Given the description of an element on the screen output the (x, y) to click on. 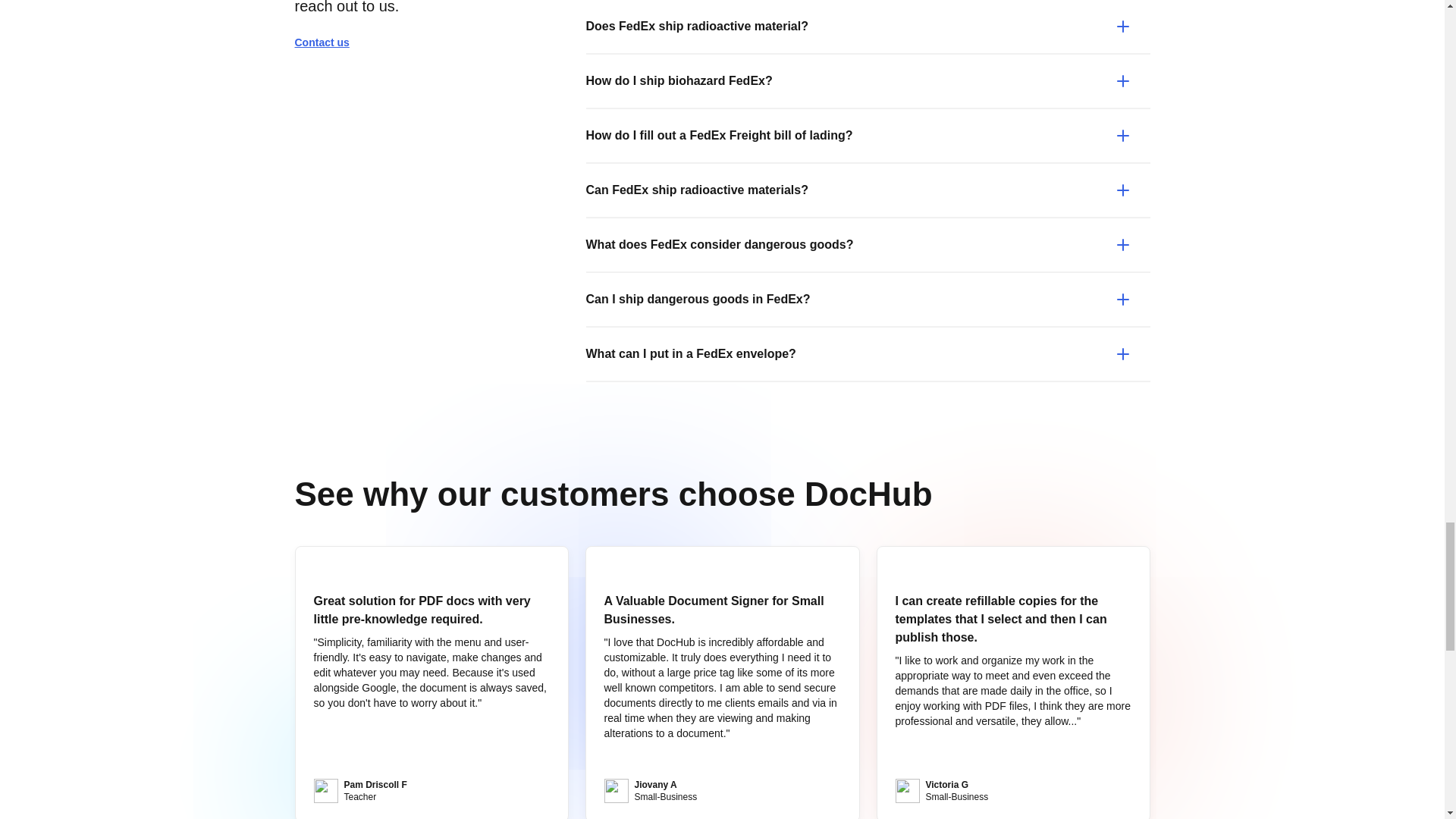
Contact us (328, 42)
